Given the description of an element on the screen output the (x, y) to click on. 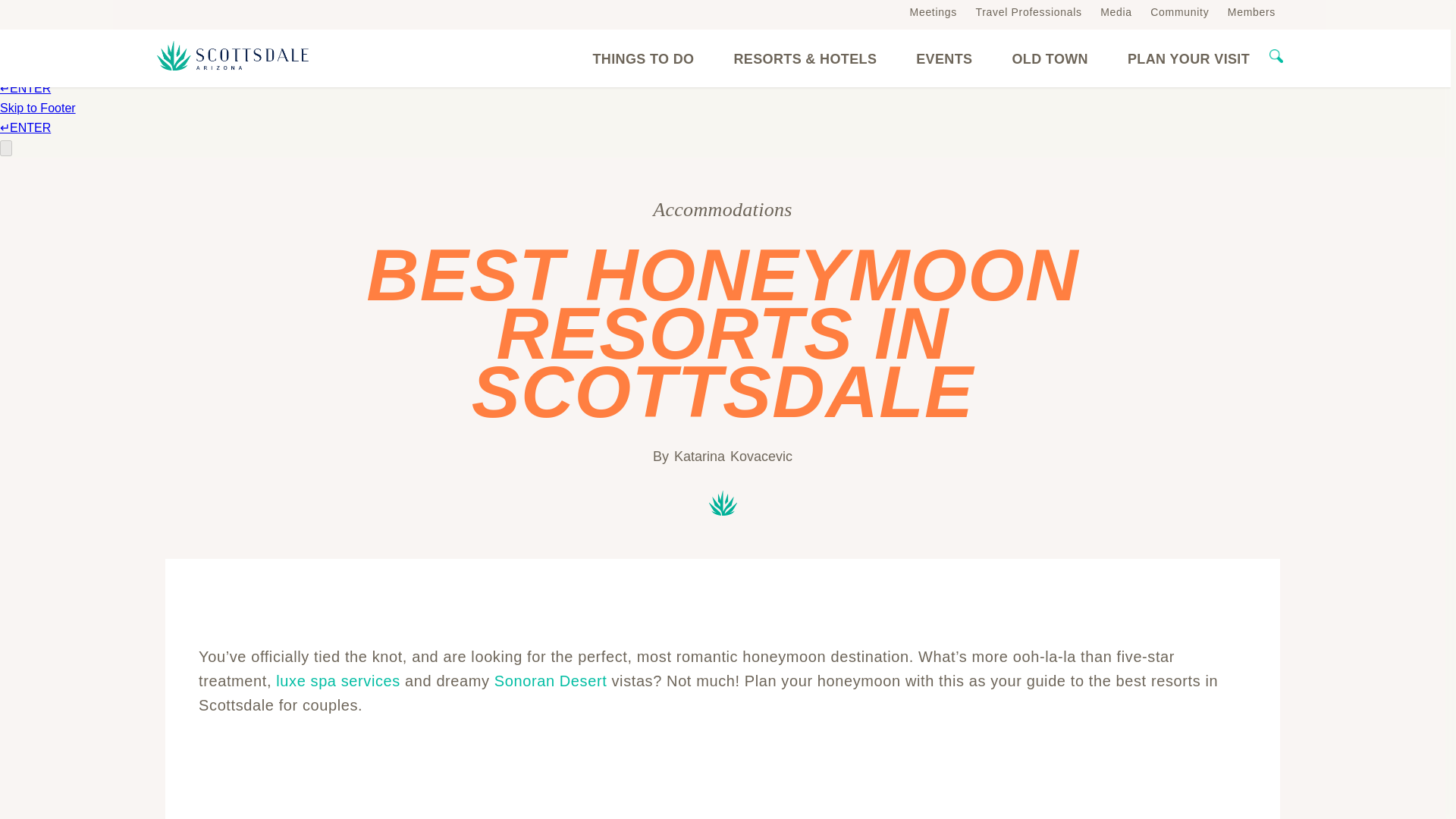
Meetings (933, 11)
Travel Professionals (1028, 11)
Meetings (933, 11)
